Given the description of an element on the screen output the (x, y) to click on. 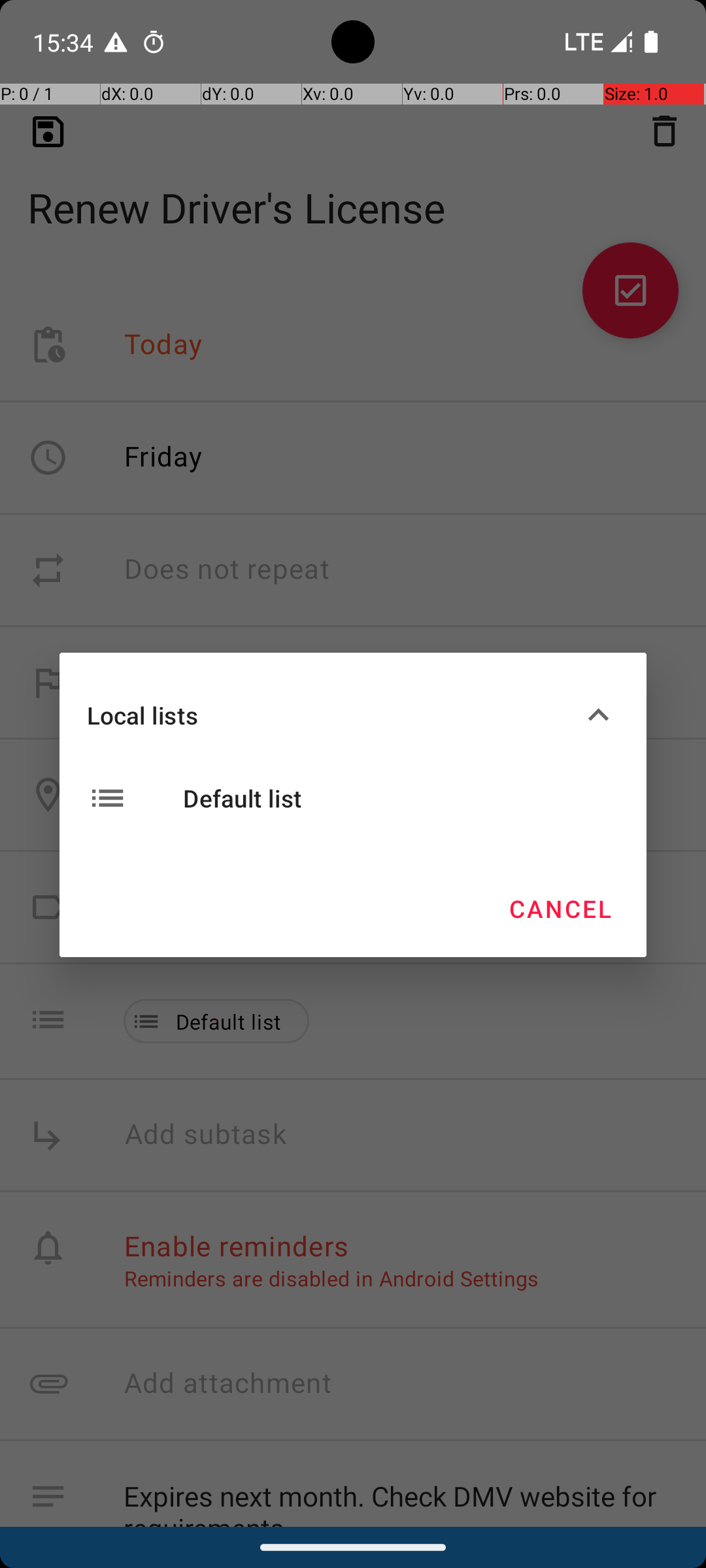
Local lists Element type: android.widget.TextView (331, 715)
